Given the description of an element on the screen output the (x, y) to click on. 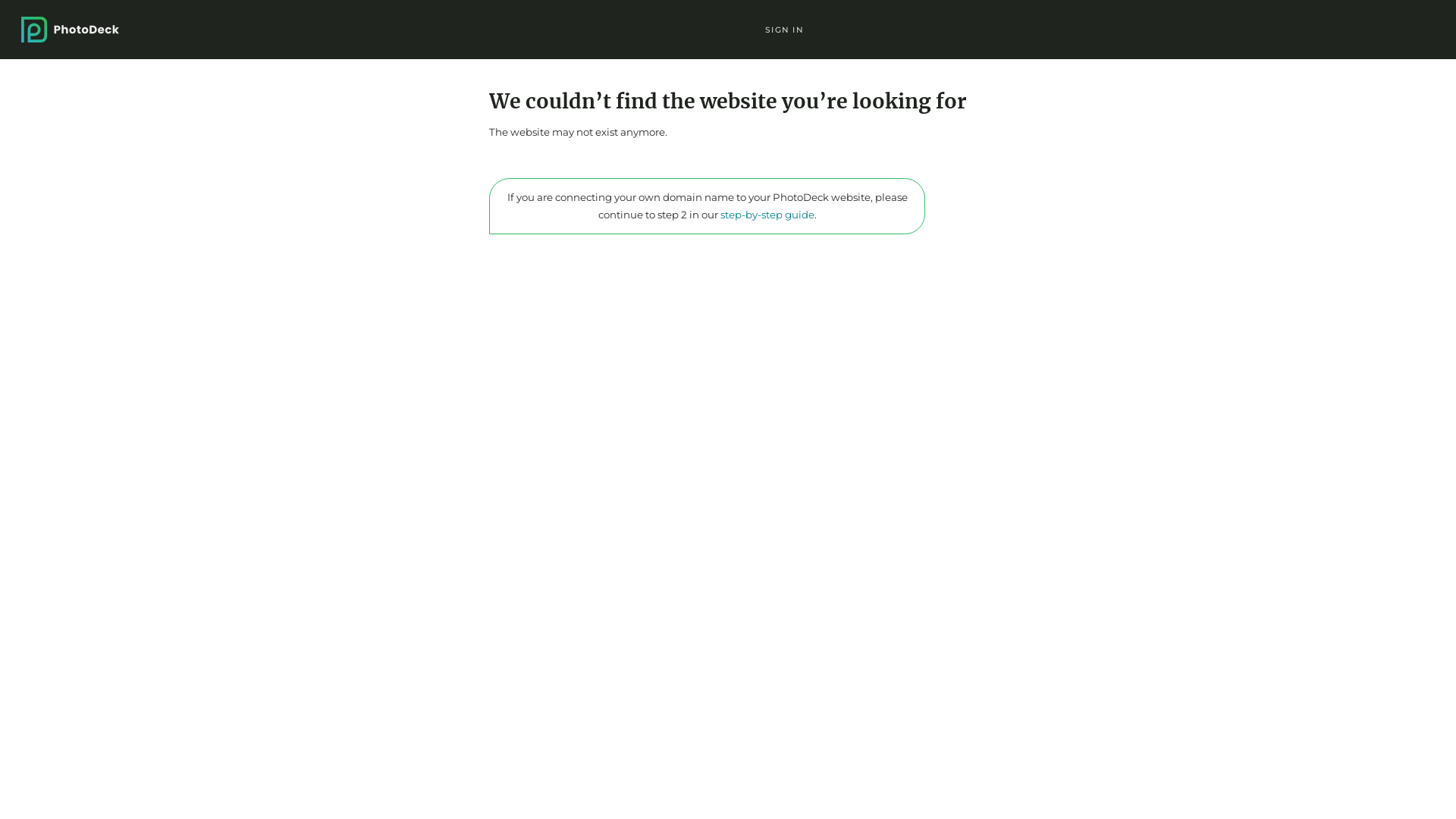
step-by-step guide Element type: text (767, 214)
SIGN IN Element type: text (784, 29)
